Given the description of an element on the screen output the (x, y) to click on. 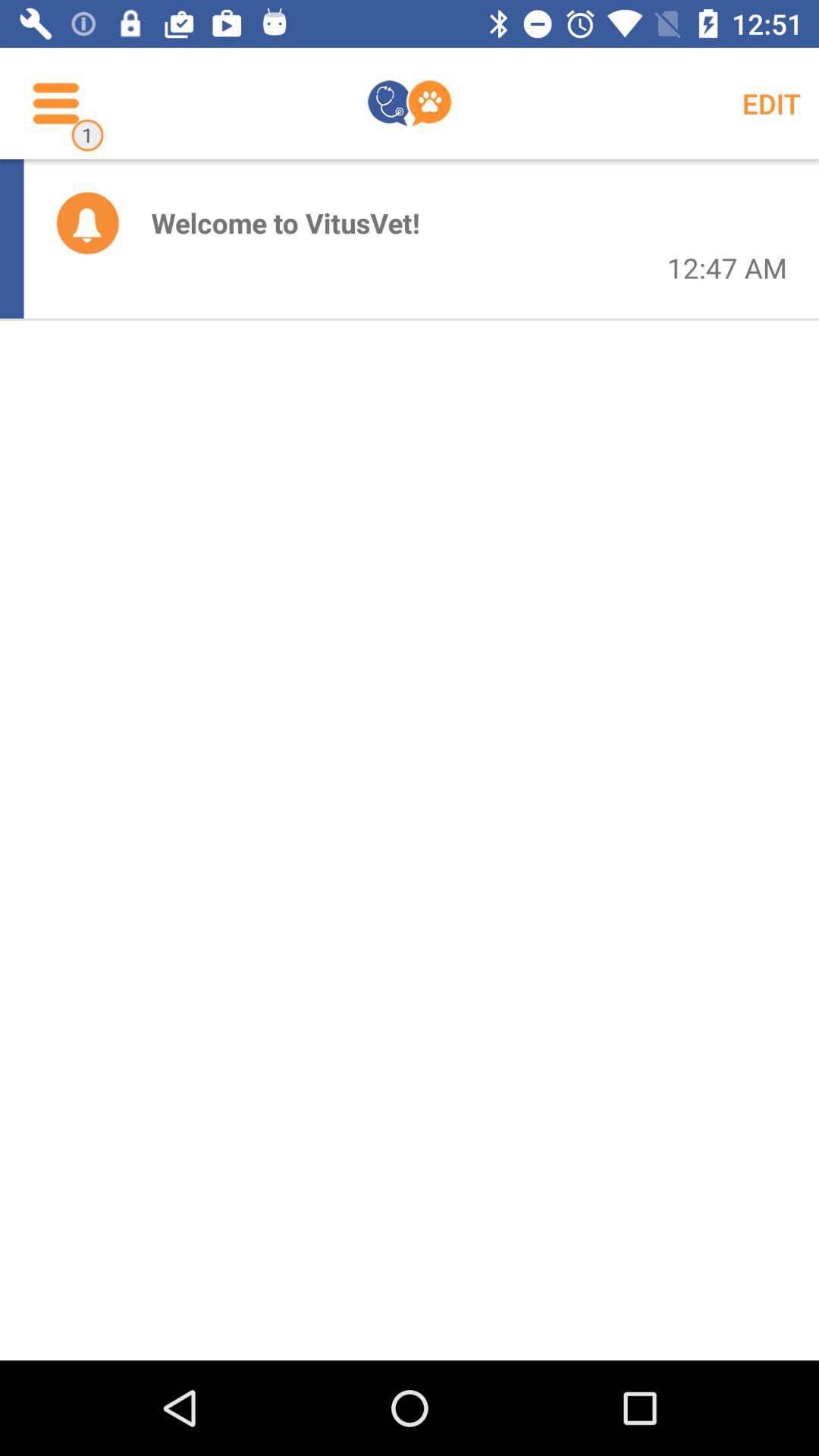
turn on edit icon (771, 103)
